Given the description of an element on the screen output the (x, y) to click on. 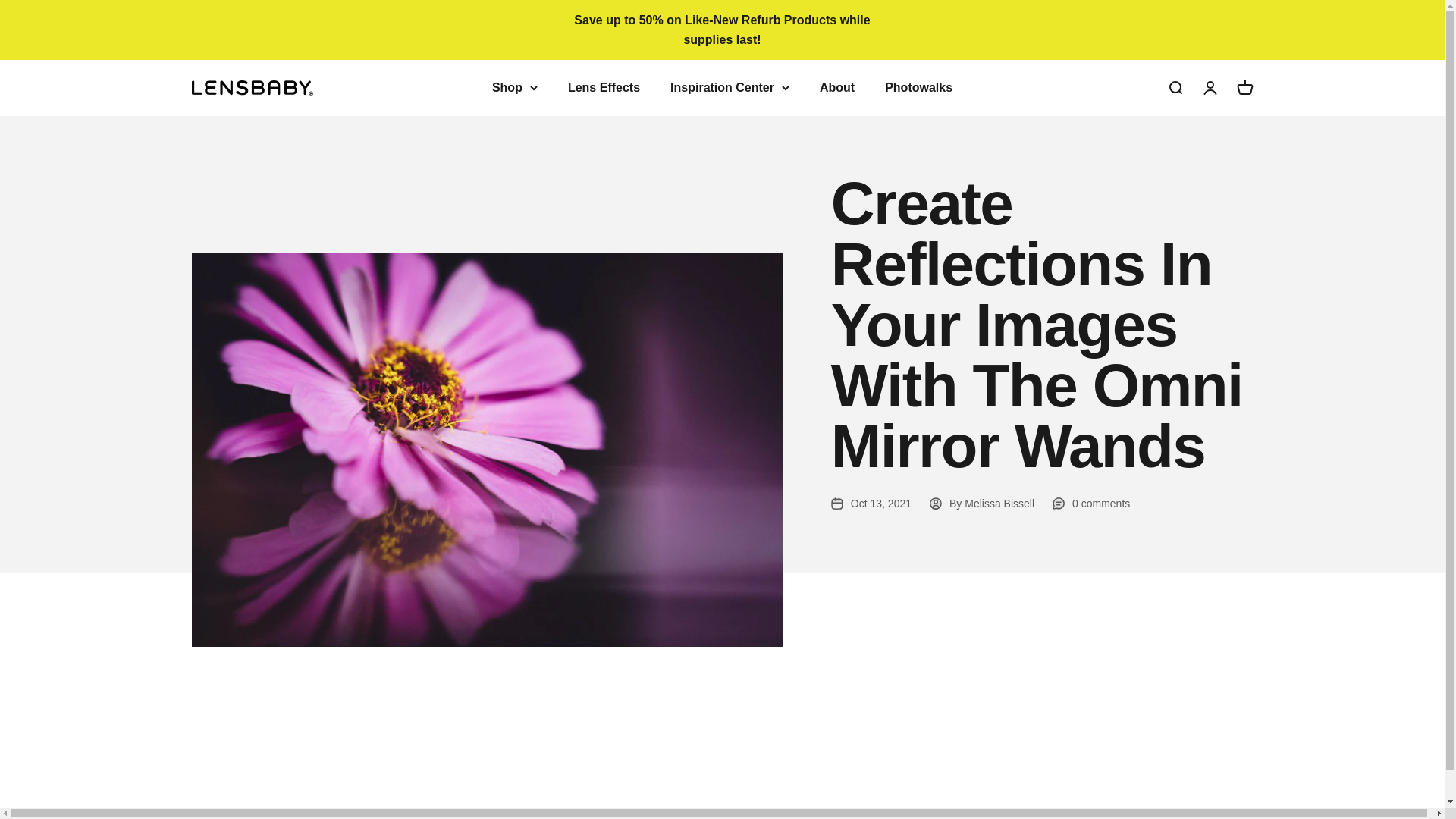
Photowalks (918, 87)
About (836, 87)
Lens Effects (603, 87)
Lensbaby (251, 87)
0 comments (1090, 503)
Open account page (1209, 87)
Open search (1174, 87)
Open cart (1244, 87)
